Given the description of an element on the screen output the (x, y) to click on. 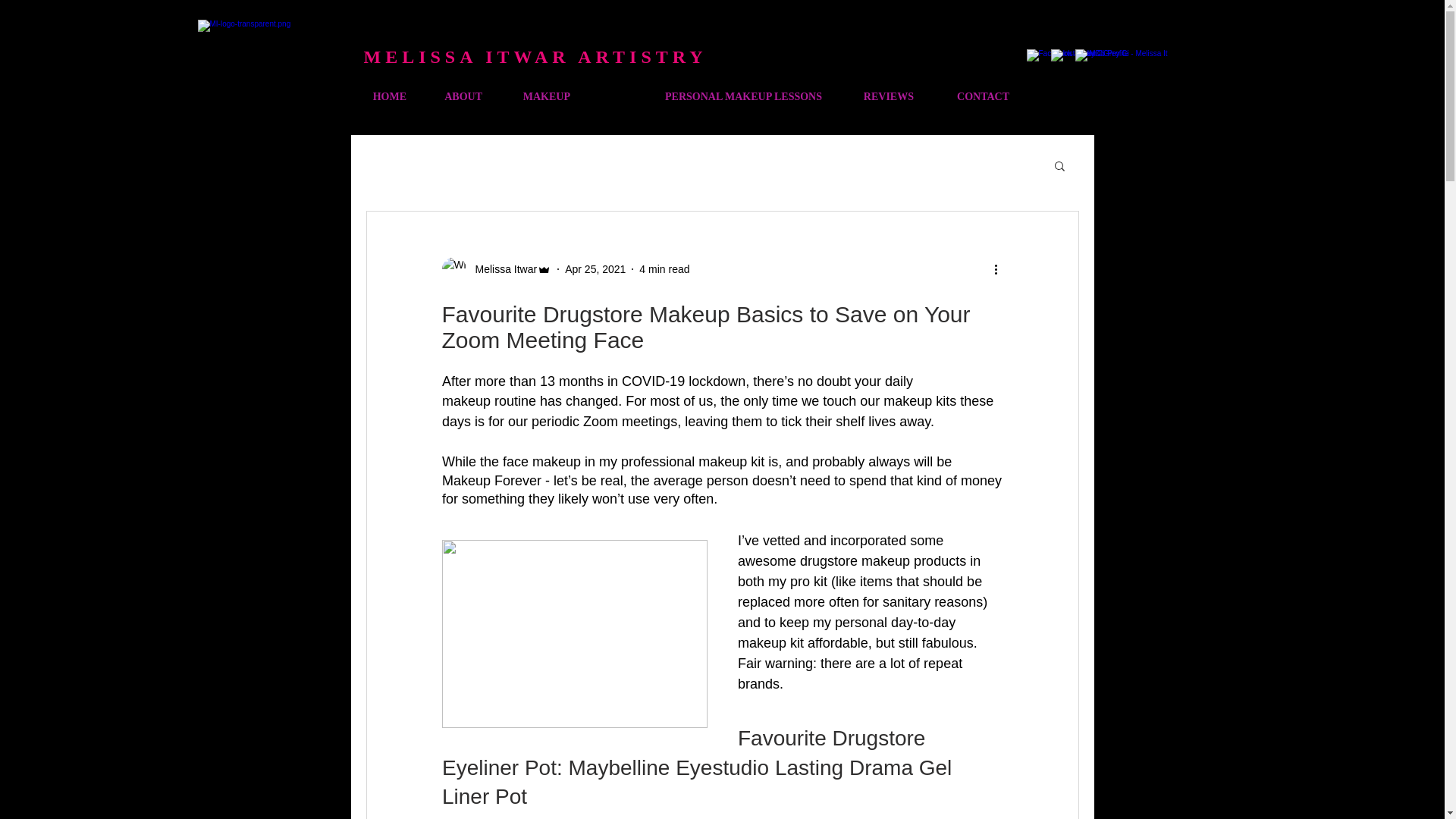
Apr 25, 2021 (595, 268)
Melissa Itwar (501, 268)
PERSONAL MAKEUP LESSONS (706, 96)
CONTACT (972, 96)
REVIEWS (878, 96)
ABOUT (455, 96)
HOME (383, 96)
4 min read (663, 268)
